Given the description of an element on the screen output the (x, y) to click on. 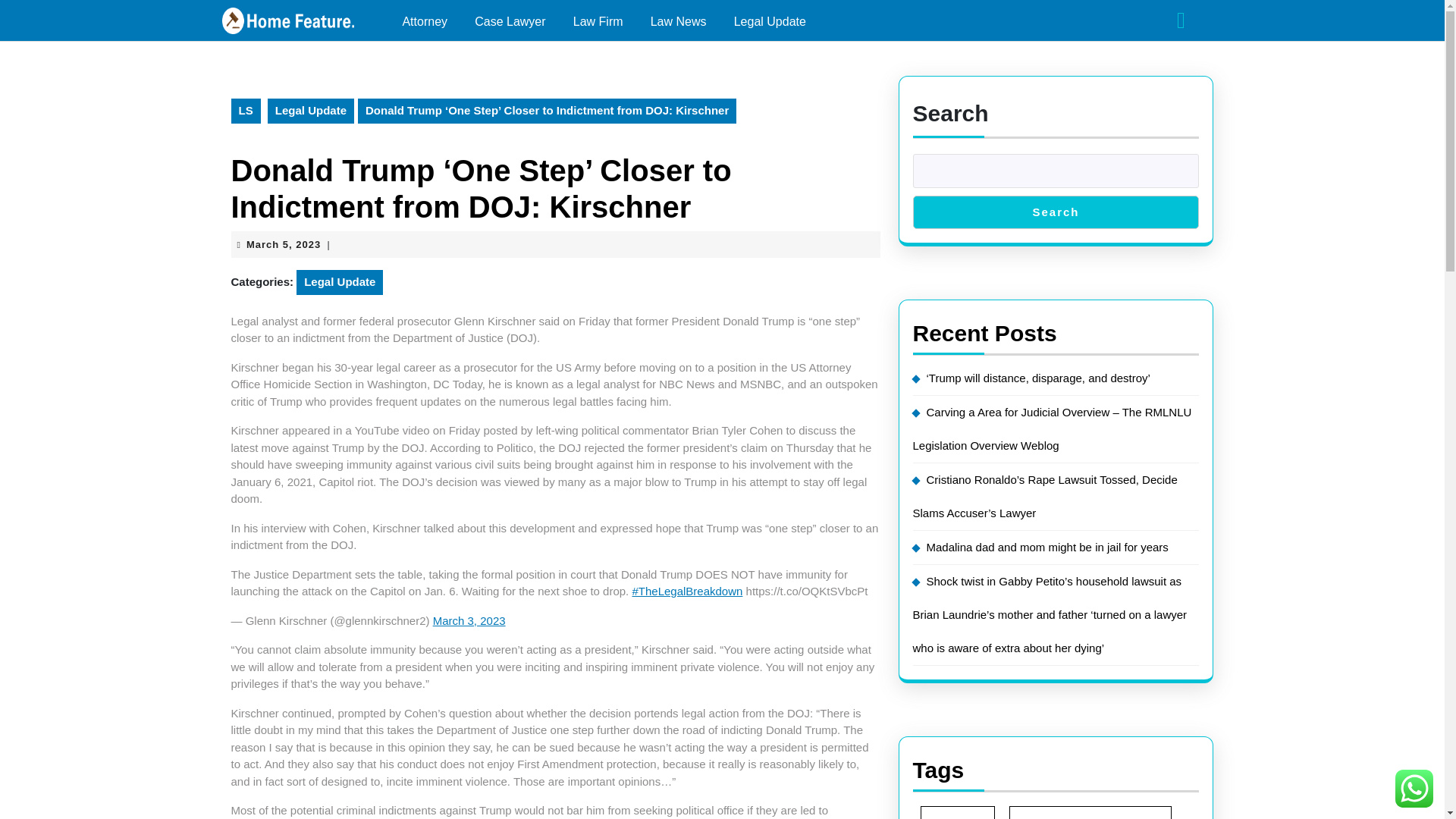
Law Firm (597, 22)
Case Lawyer (509, 22)
Legal Update (283, 243)
March 3, 2023 (770, 22)
Legal Update (468, 620)
attorney's (339, 282)
Attorney (957, 812)
Search (424, 22)
best website to find a lawyer (1055, 212)
LS (1090, 812)
Madalina dad and mom might be in jail for years (245, 110)
Law News (1047, 546)
Legal Update (679, 22)
